Given the description of an element on the screen output the (x, y) to click on. 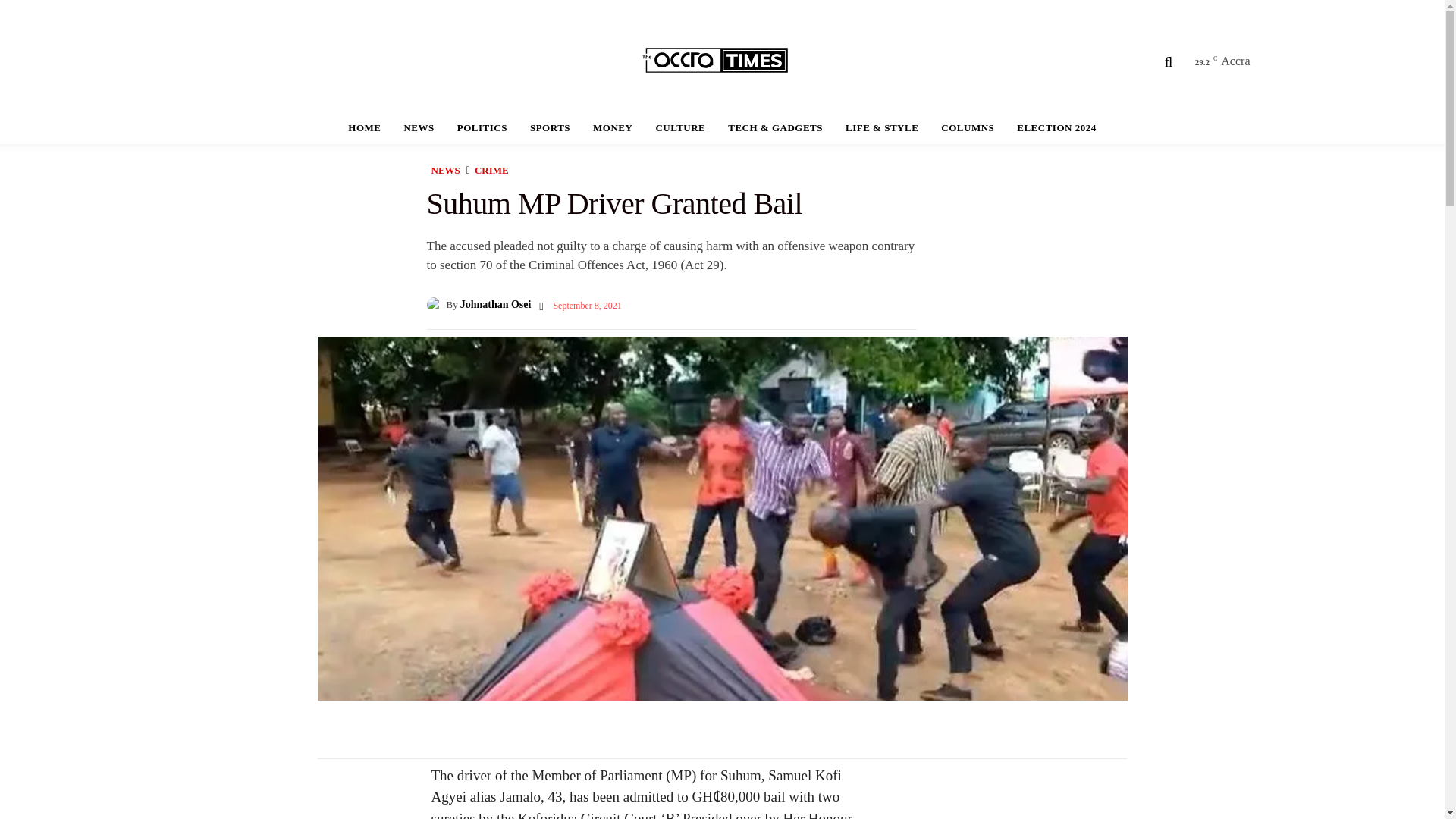
Breaking news from Ghana and around the world (723, 60)
HOME (364, 128)
NEWS (418, 128)
Johnathan Osei (435, 304)
